Given the description of an element on the screen output the (x, y) to click on. 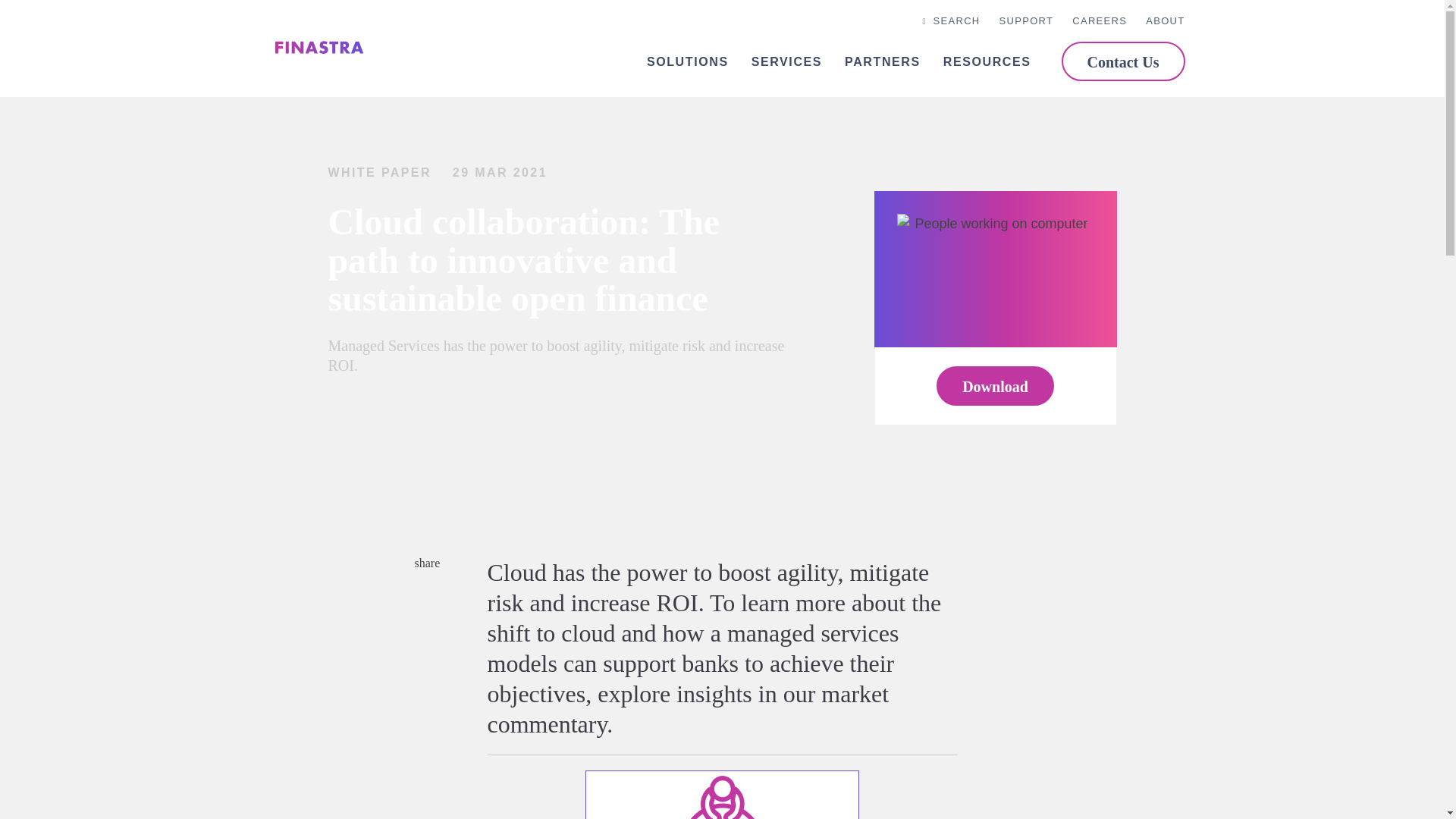
CAREERS (1098, 21)
SOLUTIONS (687, 61)
SUPPORT (1026, 21)
SEARCH (949, 21)
ABOUT (1165, 21)
